Given the description of an element on the screen output the (x, y) to click on. 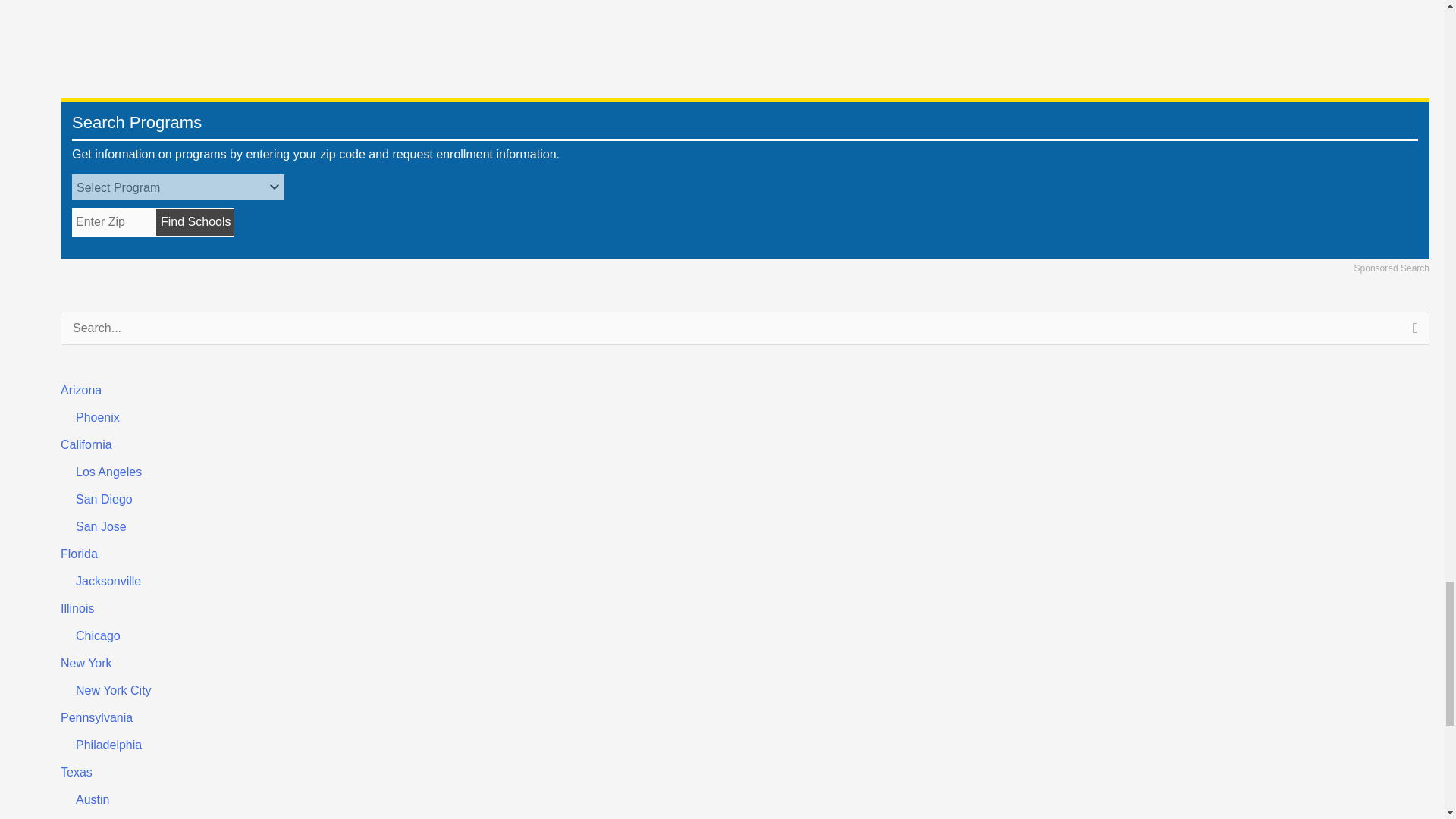
California (86, 444)
San Diego (103, 499)
Los Angeles (108, 472)
Arizona (81, 390)
Find Schools (194, 222)
Find Schools (194, 222)
San Jose (100, 526)
Phoenix (97, 417)
